Given the description of an element on the screen output the (x, y) to click on. 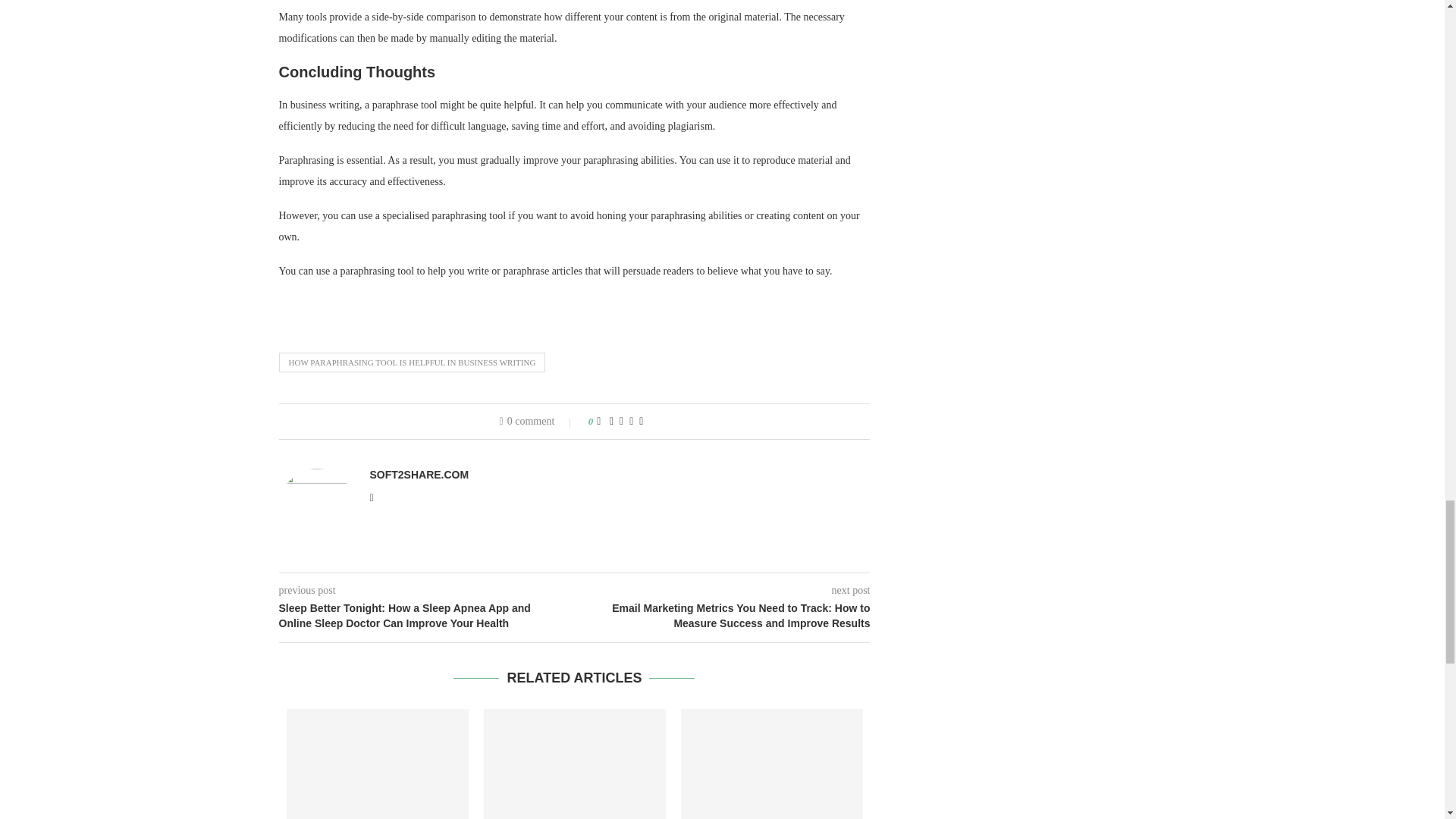
HOW PARAPHRASING TOOL IS HELPFUL IN BUSINESS WRITING (412, 362)
Cheap Book Publishing: Quality Without Compromise (574, 764)
Author Soft2share.com (418, 474)
